Given the description of an element on the screen output the (x, y) to click on. 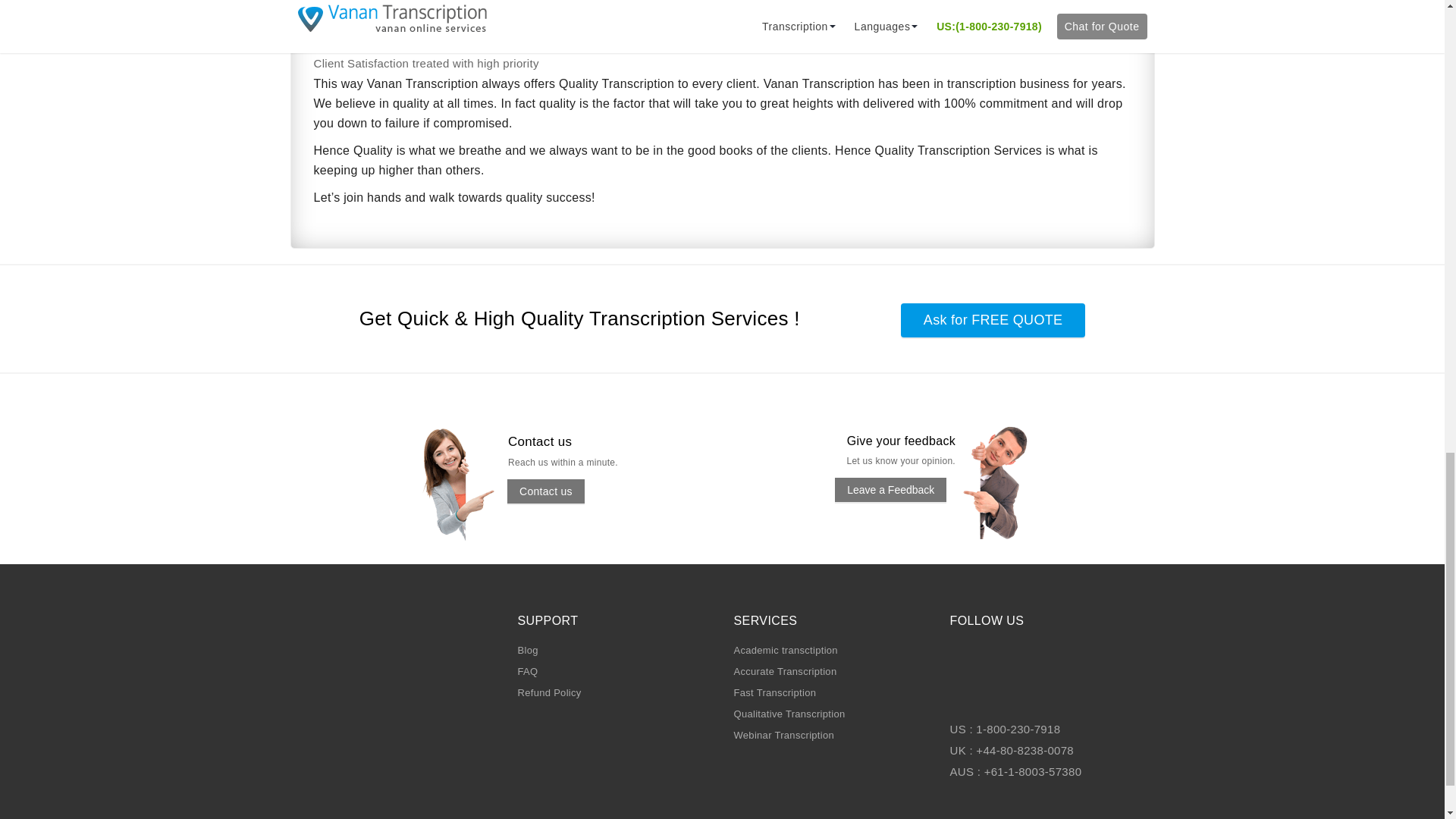
FAQ (526, 671)
Leave a Feedback (890, 489)
Accurate Transcription (785, 671)
vanantranscription (473, 483)
Academic transctiption (785, 650)
Blog (526, 650)
Qualitative Transcription (789, 713)
Refund Policy (548, 692)
vanantranscription (1011, 481)
Fast Transcription (774, 692)
